Given the description of an element on the screen output the (x, y) to click on. 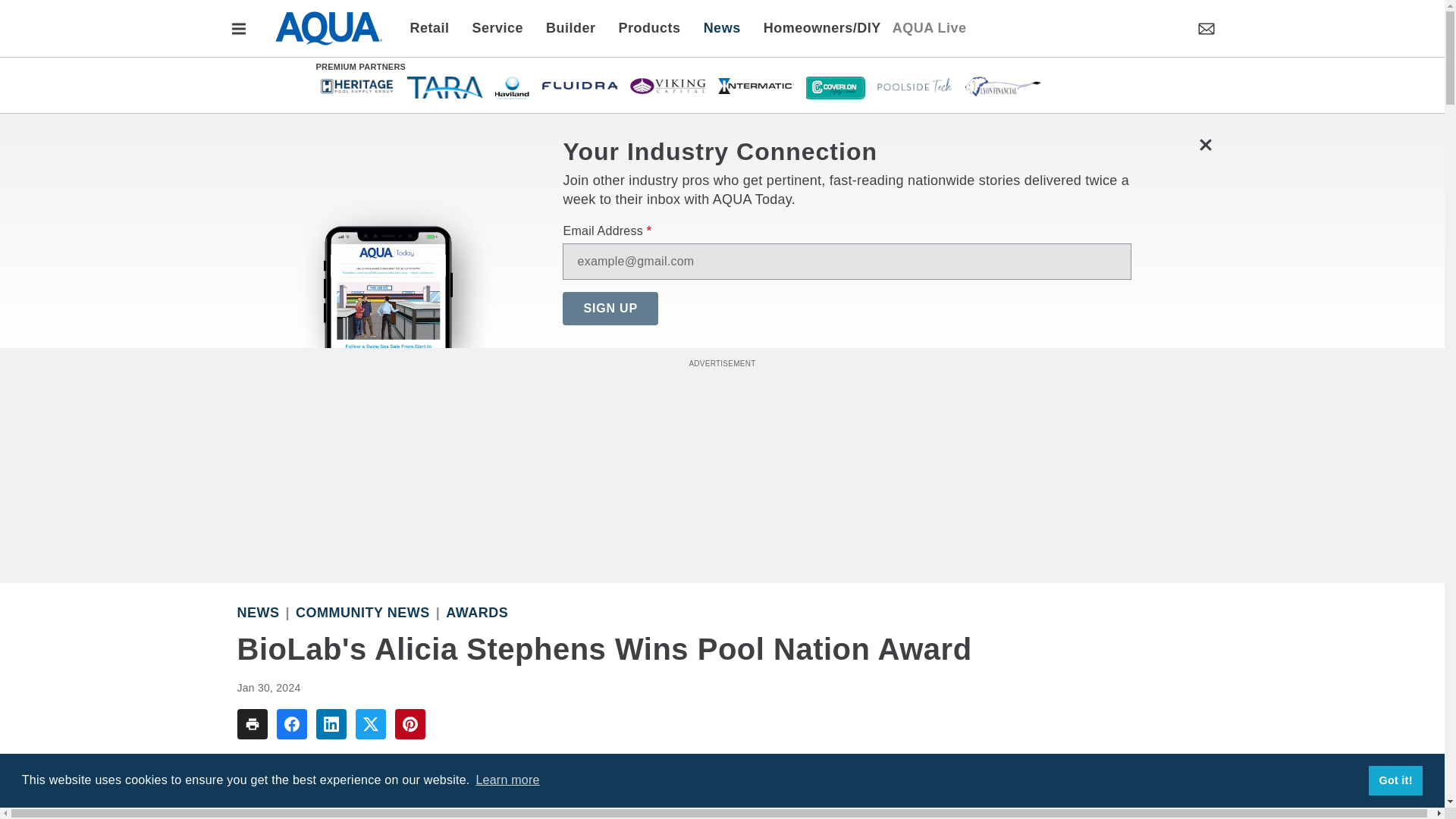
Service (498, 27)
Retail (434, 27)
Heritage Pool Supply Group (356, 85)
Builder (570, 27)
News (722, 27)
Learn more (507, 780)
AQUA Live (929, 27)
Got it! (1395, 780)
TARA (443, 86)
Products (650, 27)
Fluidra (579, 85)
